Given the description of an element on the screen output the (x, y) to click on. 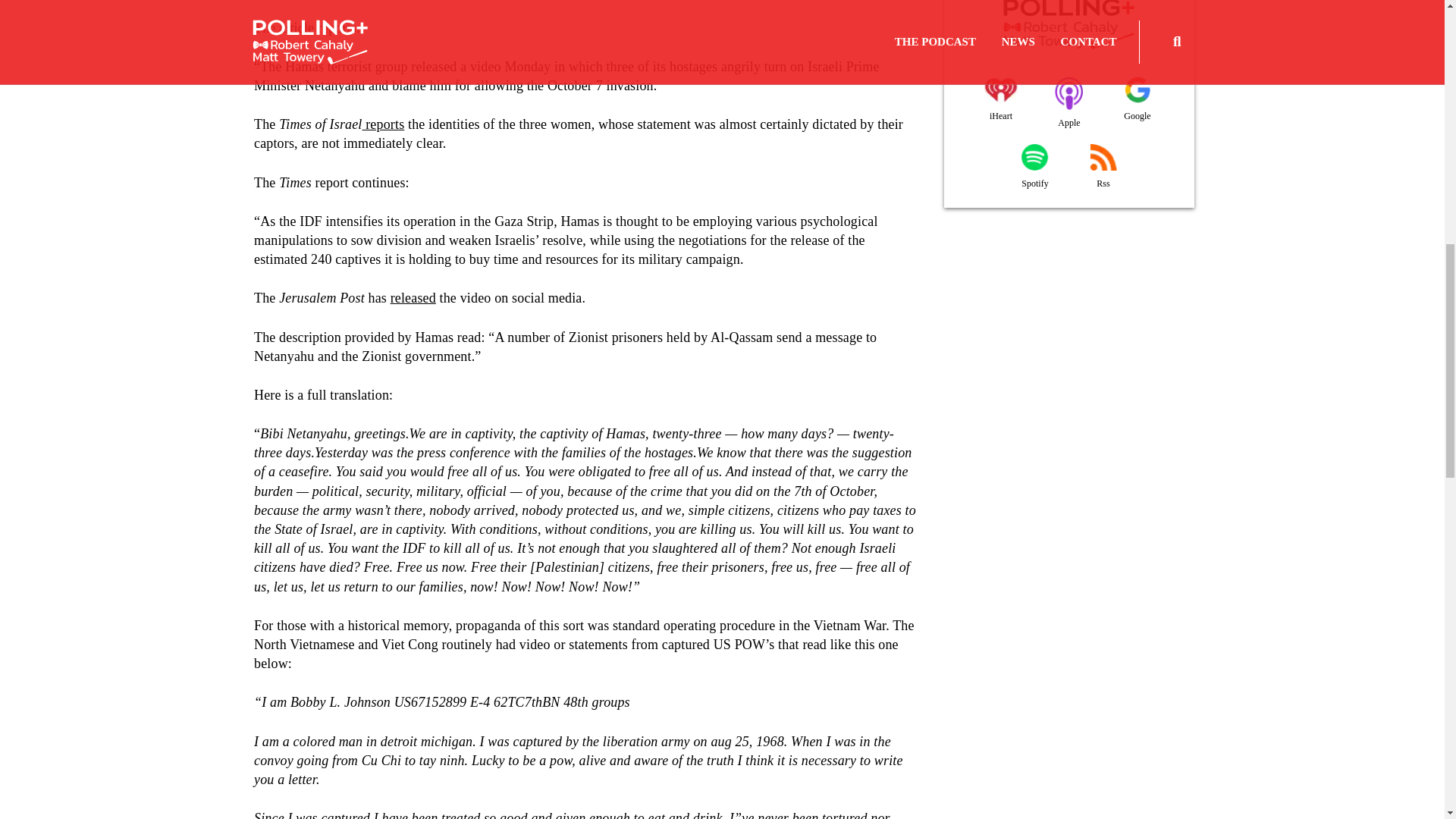
Google (1137, 100)
Apple (1069, 103)
released (412, 297)
Spotify (1034, 168)
Rss (1102, 168)
iHeart (1000, 100)
 reports (383, 124)
